Given the description of an element on the screen output the (x, y) to click on. 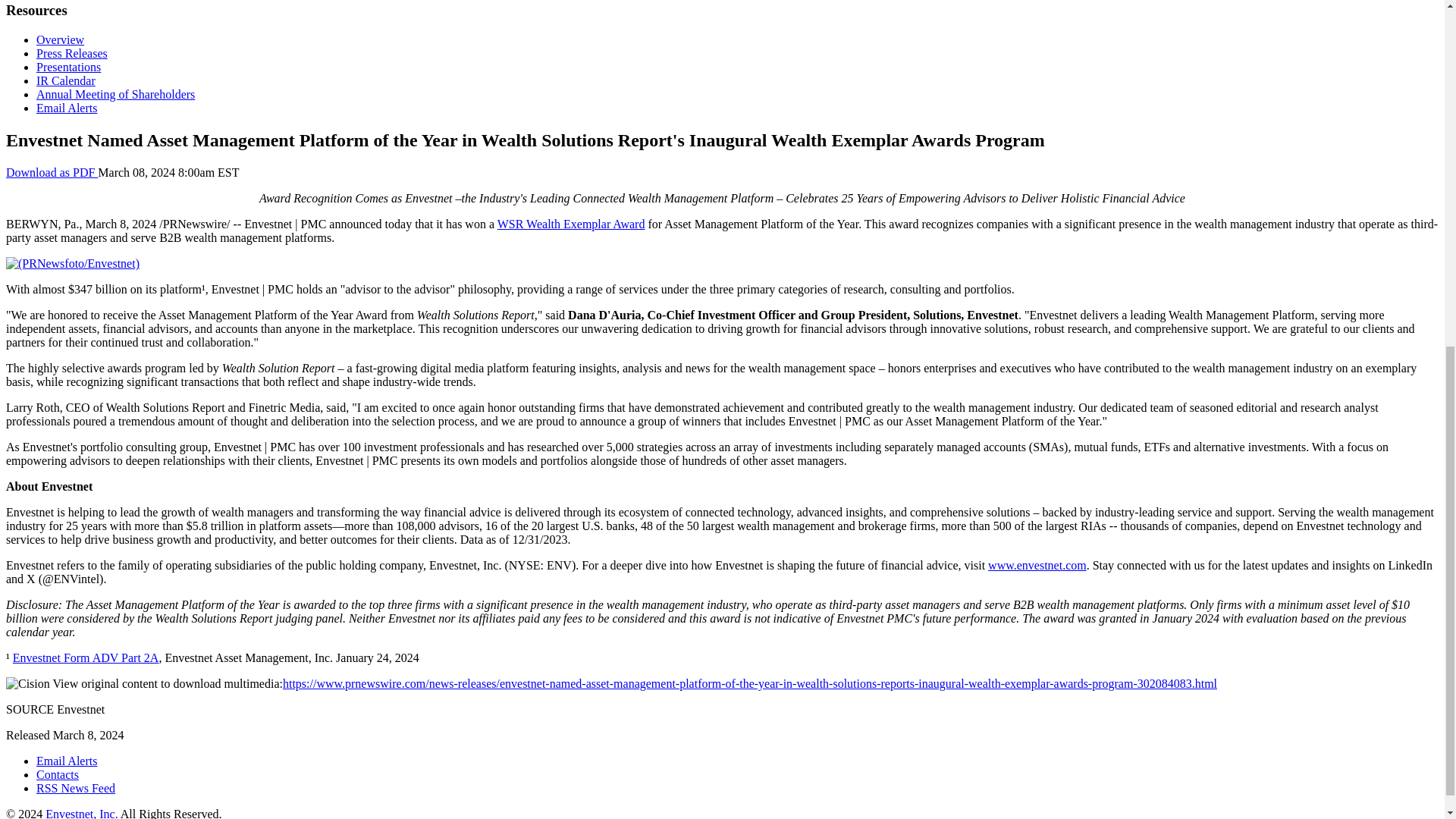
Cision (27, 684)
Overview (60, 39)
Press Releases (71, 52)
Presentations (68, 66)
